Given the description of an element on the screen output the (x, y) to click on. 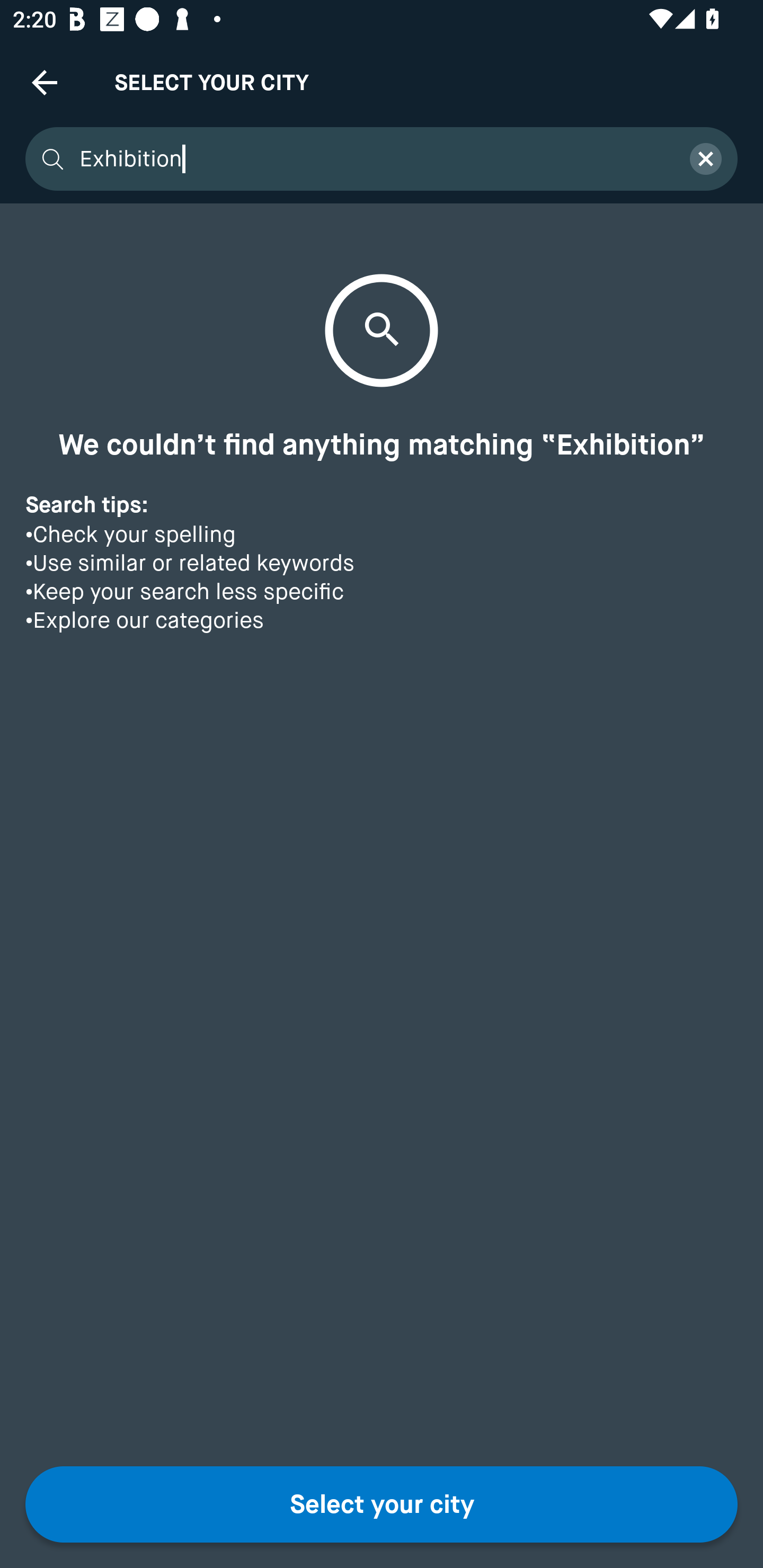
Navigate up (44, 82)
Exhibition (373, 159)
Select your city (381, 1504)
